Given the description of an element on the screen output the (x, y) to click on. 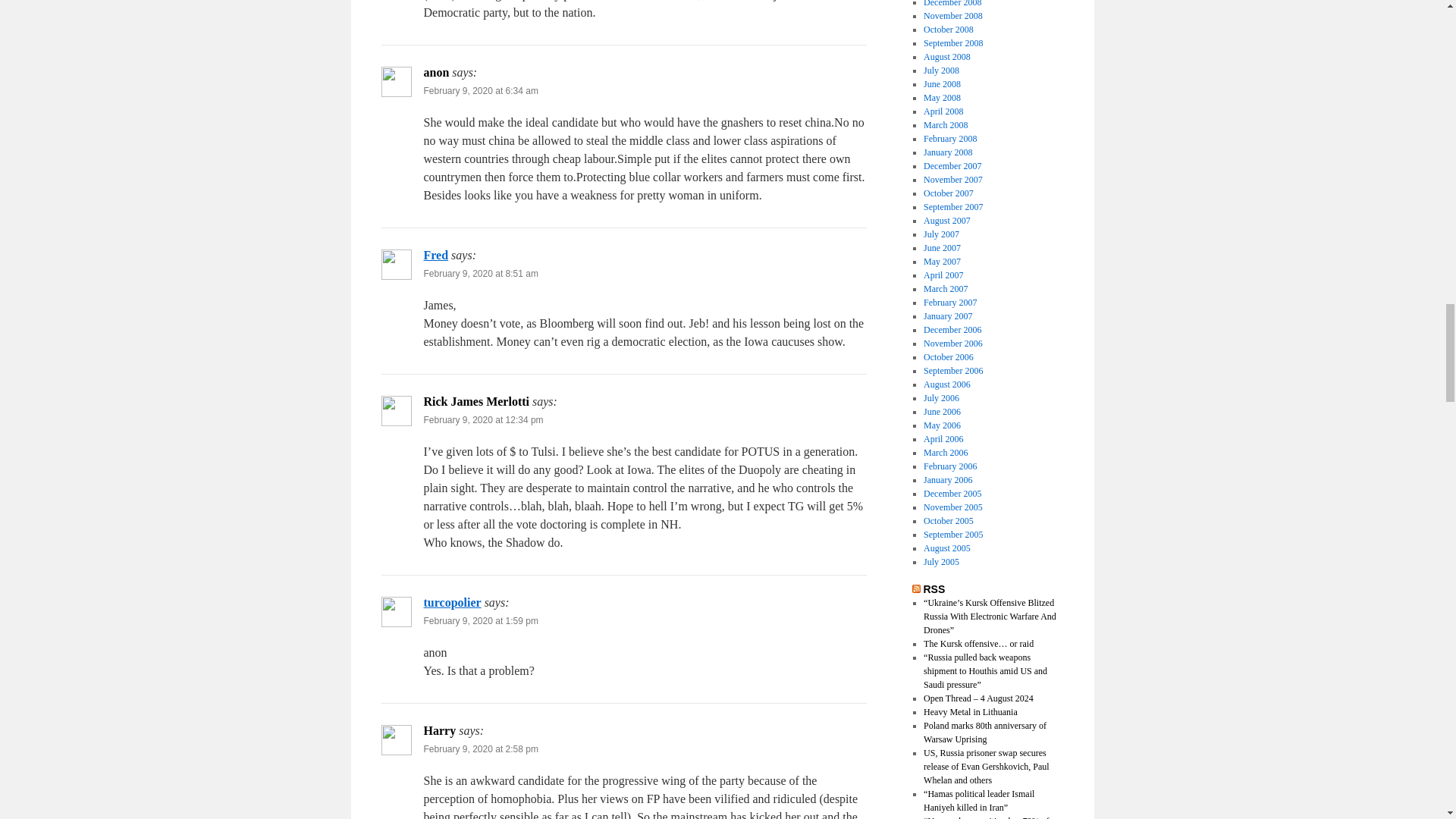
February 9, 2020 at 12:34 pm (483, 419)
February 9, 2020 at 2:58 pm (480, 748)
turcopolier (451, 602)
Fred (435, 254)
February 9, 2020 at 1:59 pm (480, 620)
February 9, 2020 at 6:34 am (480, 90)
February 9, 2020 at 8:51 am (480, 273)
